Given the description of an element on the screen output the (x, y) to click on. 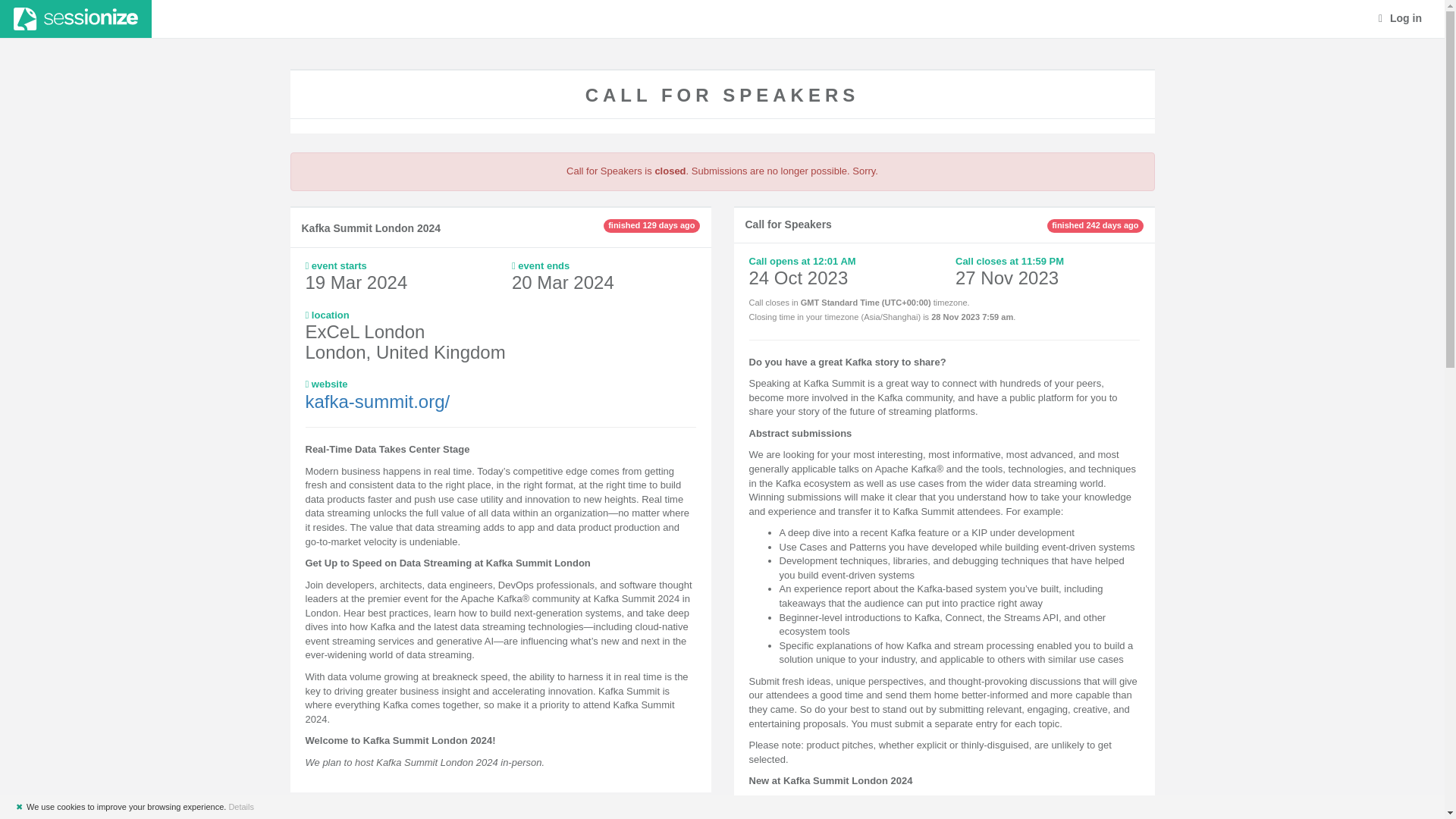
Sessionize.com (75, 18)
Details (240, 806)
Log in (1399, 18)
